Given the description of an element on the screen output the (x, y) to click on. 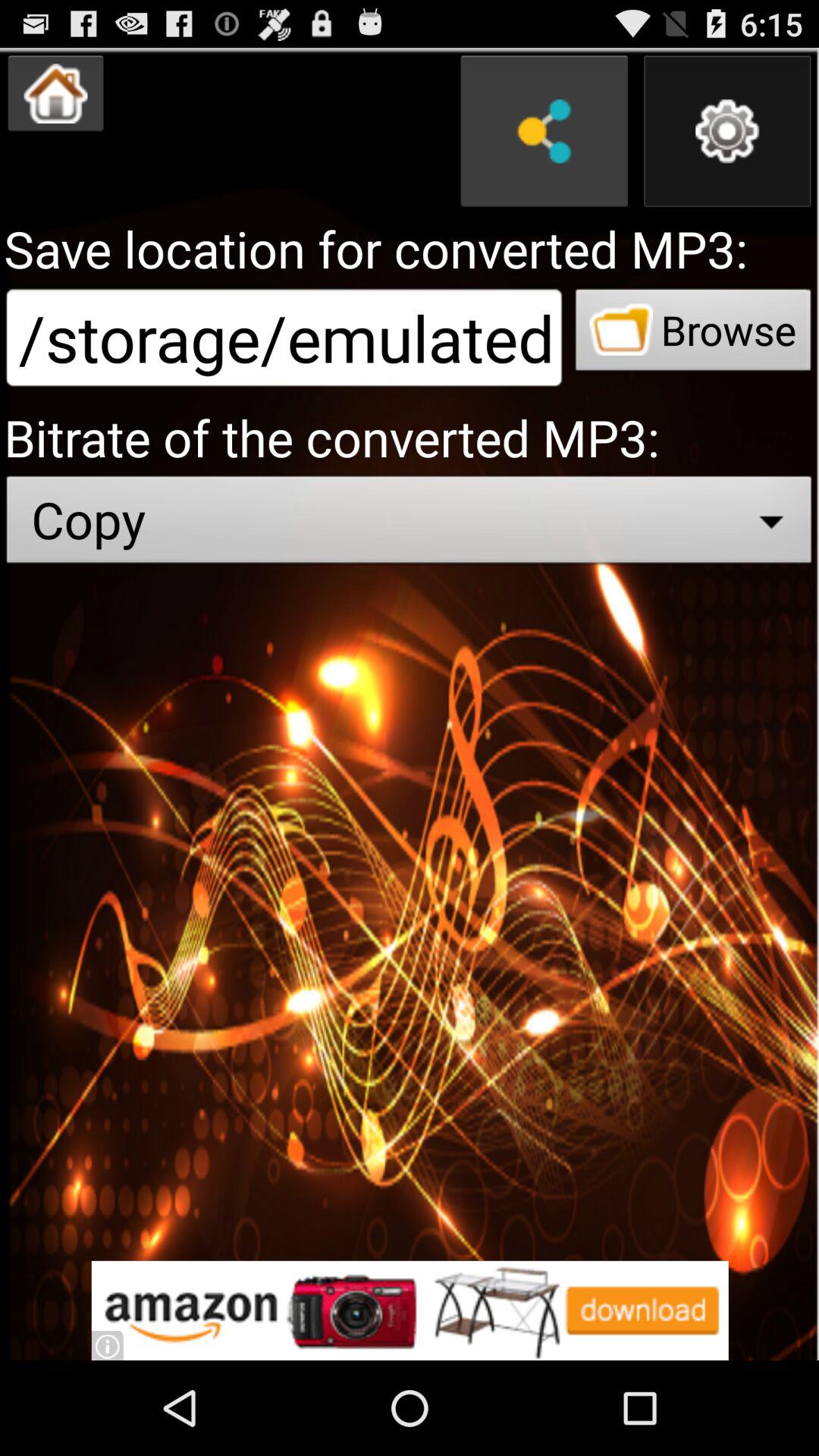
for adverisment (409, 1310)
